Given the description of an element on the screen output the (x, y) to click on. 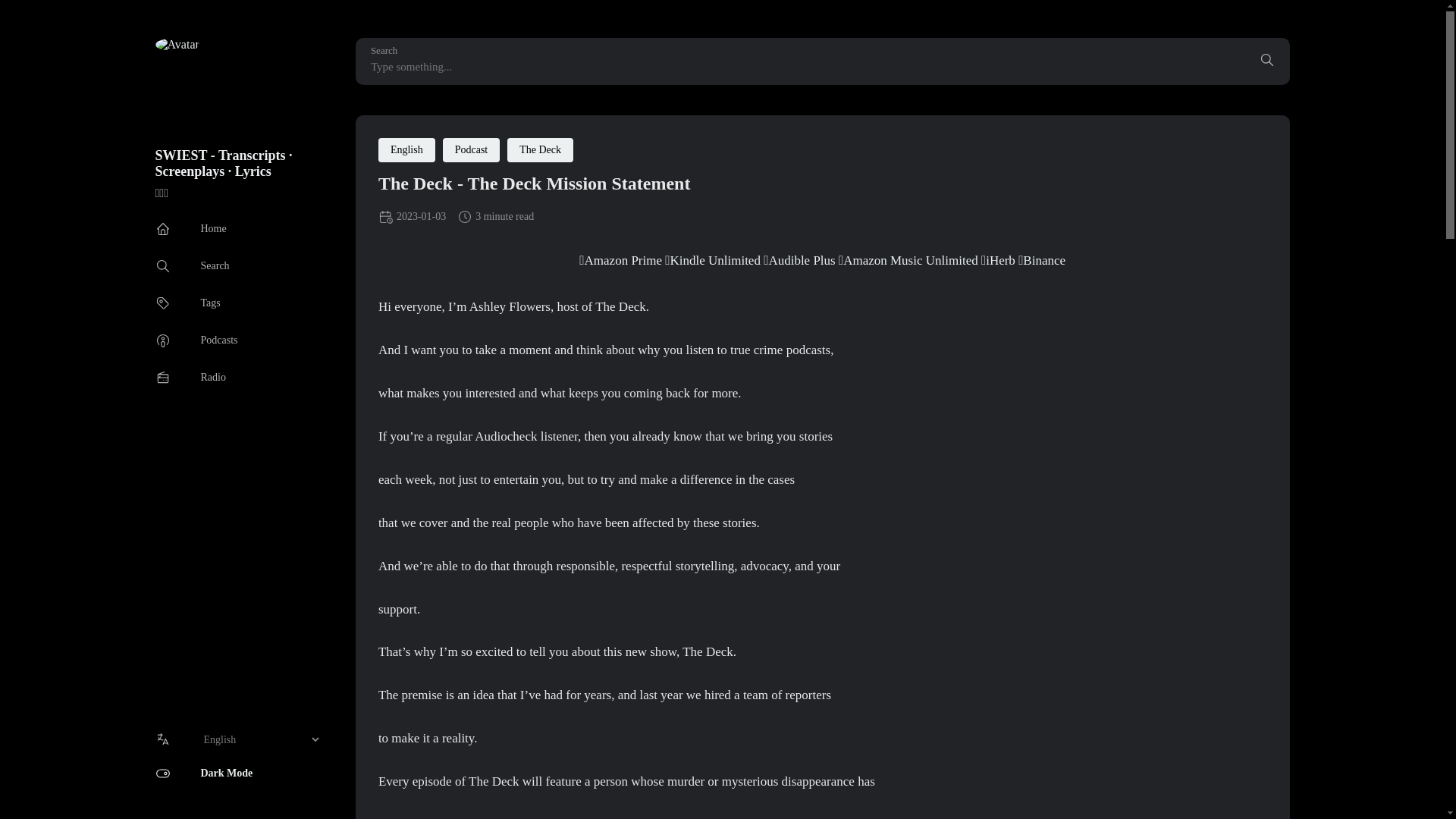
The Deck (539, 150)
Search (1265, 61)
English (406, 150)
Home (189, 229)
The Deck - The Deck Mission Statement (534, 183)
Podcasts (195, 340)
Tags (186, 303)
Radio (189, 377)
Podcast (471, 150)
Search (191, 266)
